Given the description of an element on the screen output the (x, y) to click on. 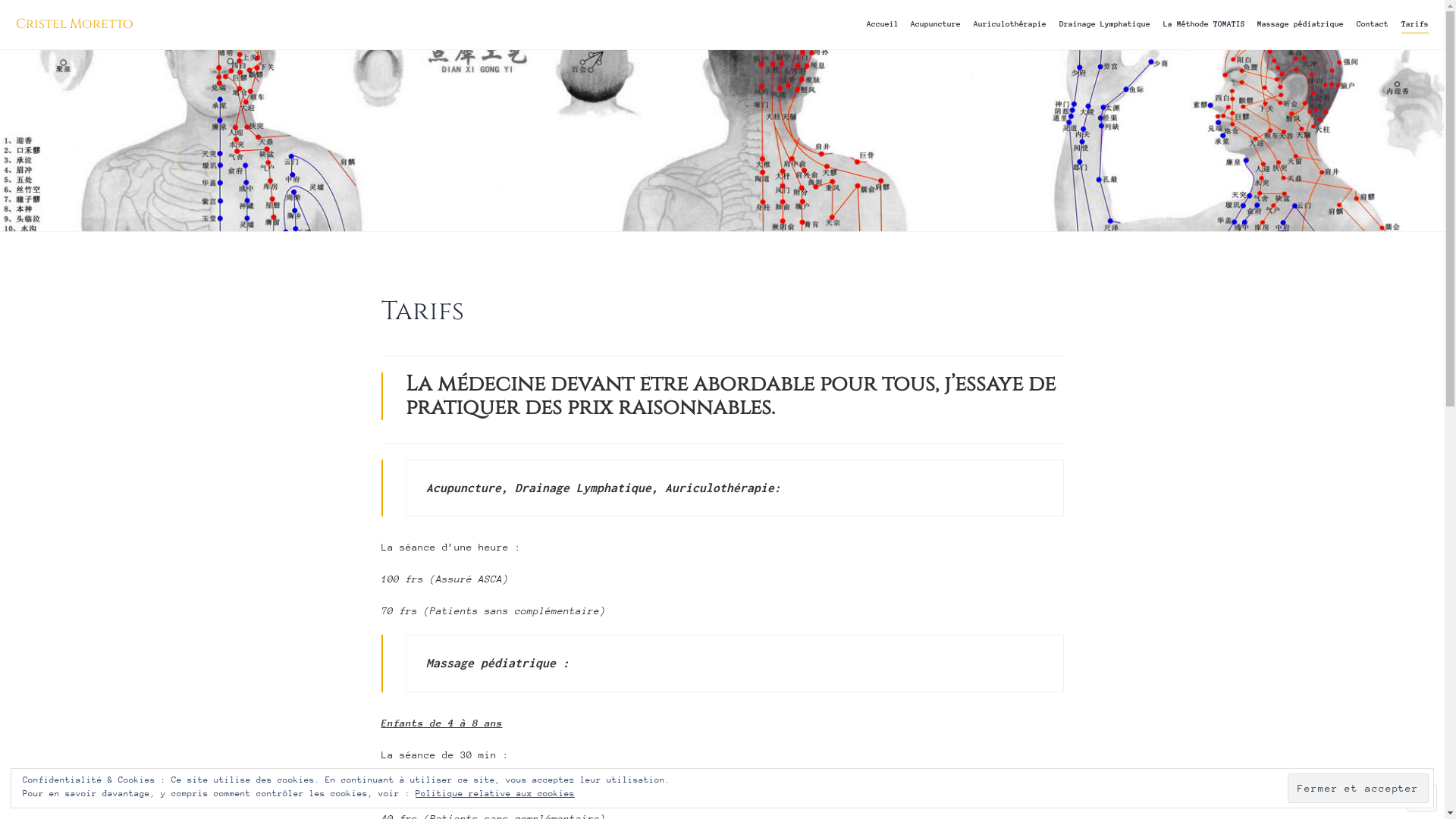
Tarifs Element type: text (1414, 24)
Fermer et accepter Element type: text (1357, 788)
Accueil Element type: text (882, 24)
Contact Element type: text (1372, 24)
Politique relative aux cookies Element type: text (494, 793)
Drainage Lymphatique Element type: text (1104, 24)
Cristel Moretto Element type: text (74, 24)
Acupuncture Element type: text (935, 24)
